Given the description of an element on the screen output the (x, y) to click on. 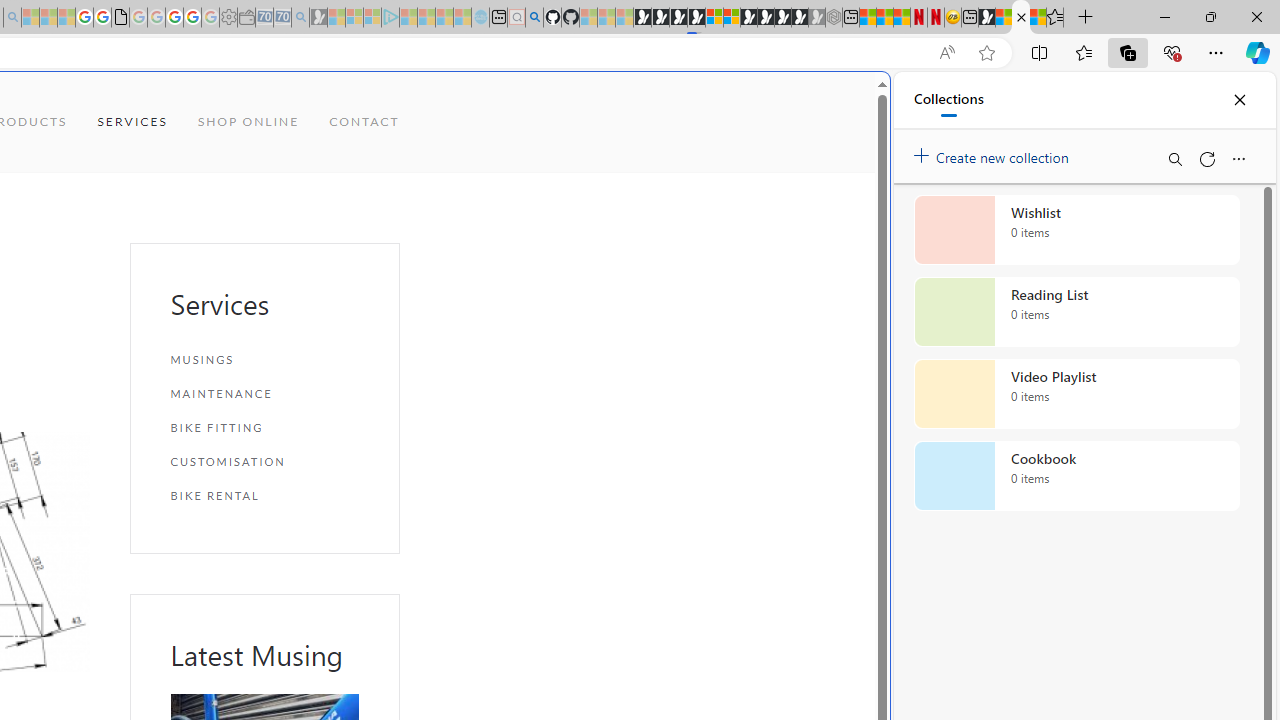
Reading List collection, 0 items (1076, 312)
Search or enter web address (343, 191)
github - Search (534, 17)
Video Playlist collection, 0 items (1076, 394)
